Given the description of an element on the screen output the (x, y) to click on. 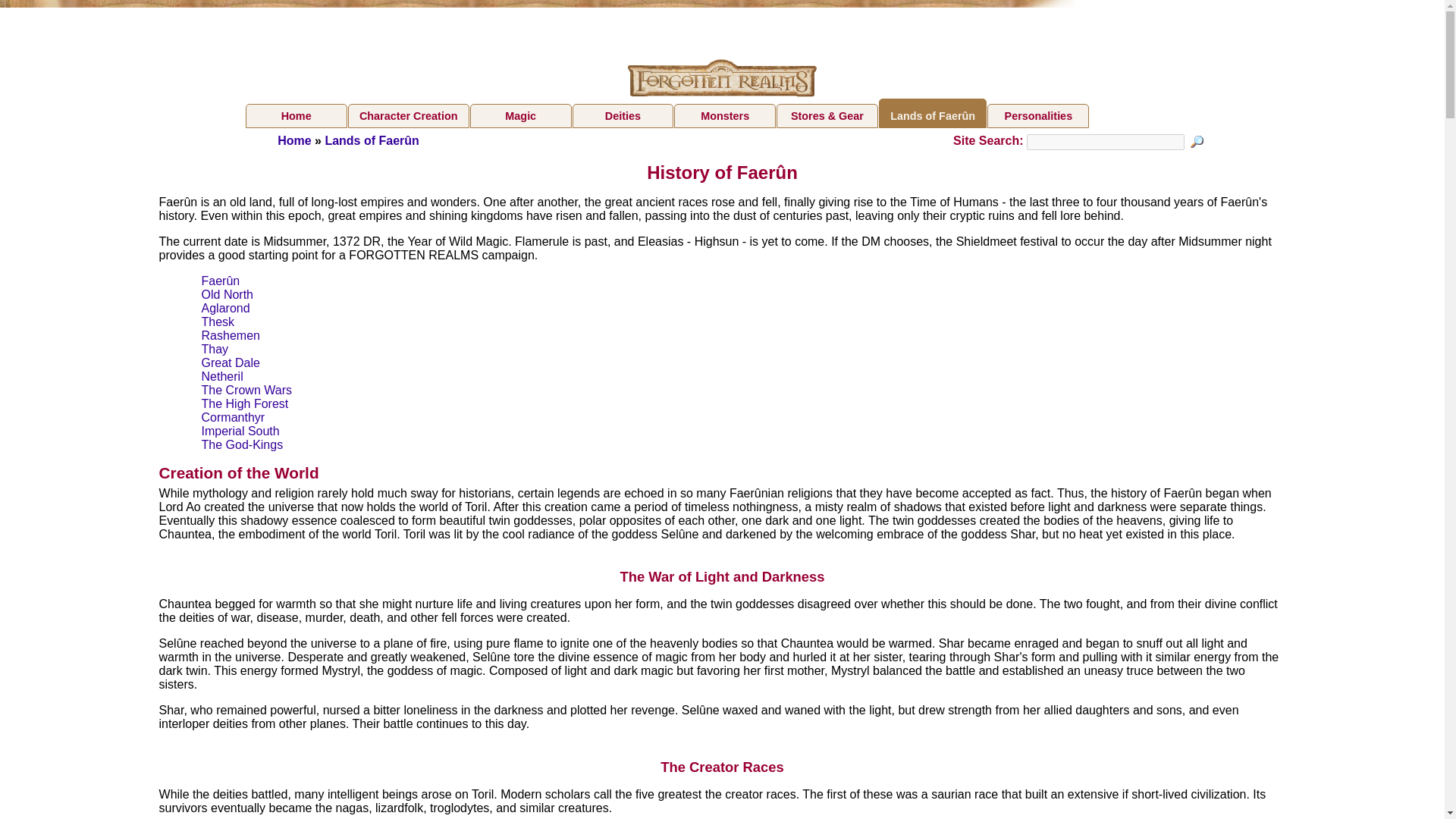
Monsters (725, 115)
The High Forest (245, 403)
Thay (215, 349)
Magic (521, 115)
Home (296, 115)
Personalities (1038, 115)
The God-Kings (242, 444)
Great Dale (231, 362)
Deities (623, 115)
Netheril (222, 376)
Old North (227, 294)
Rashemen (231, 335)
Character Creation (407, 115)
Home (294, 140)
Cormanthyr (233, 417)
